Given the description of an element on the screen output the (x, y) to click on. 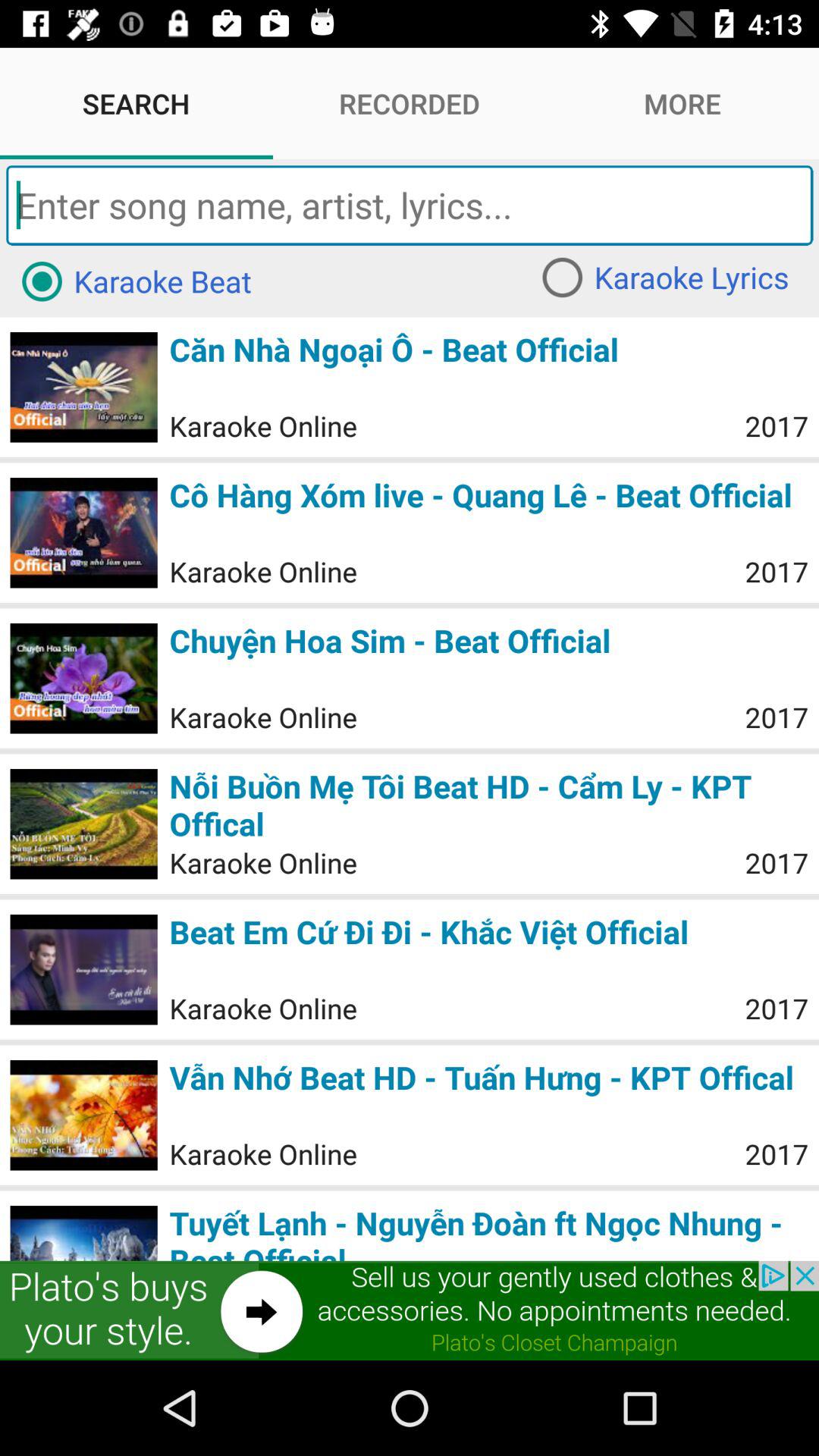
search field (409, 205)
